Given the description of an element on the screen output the (x, y) to click on. 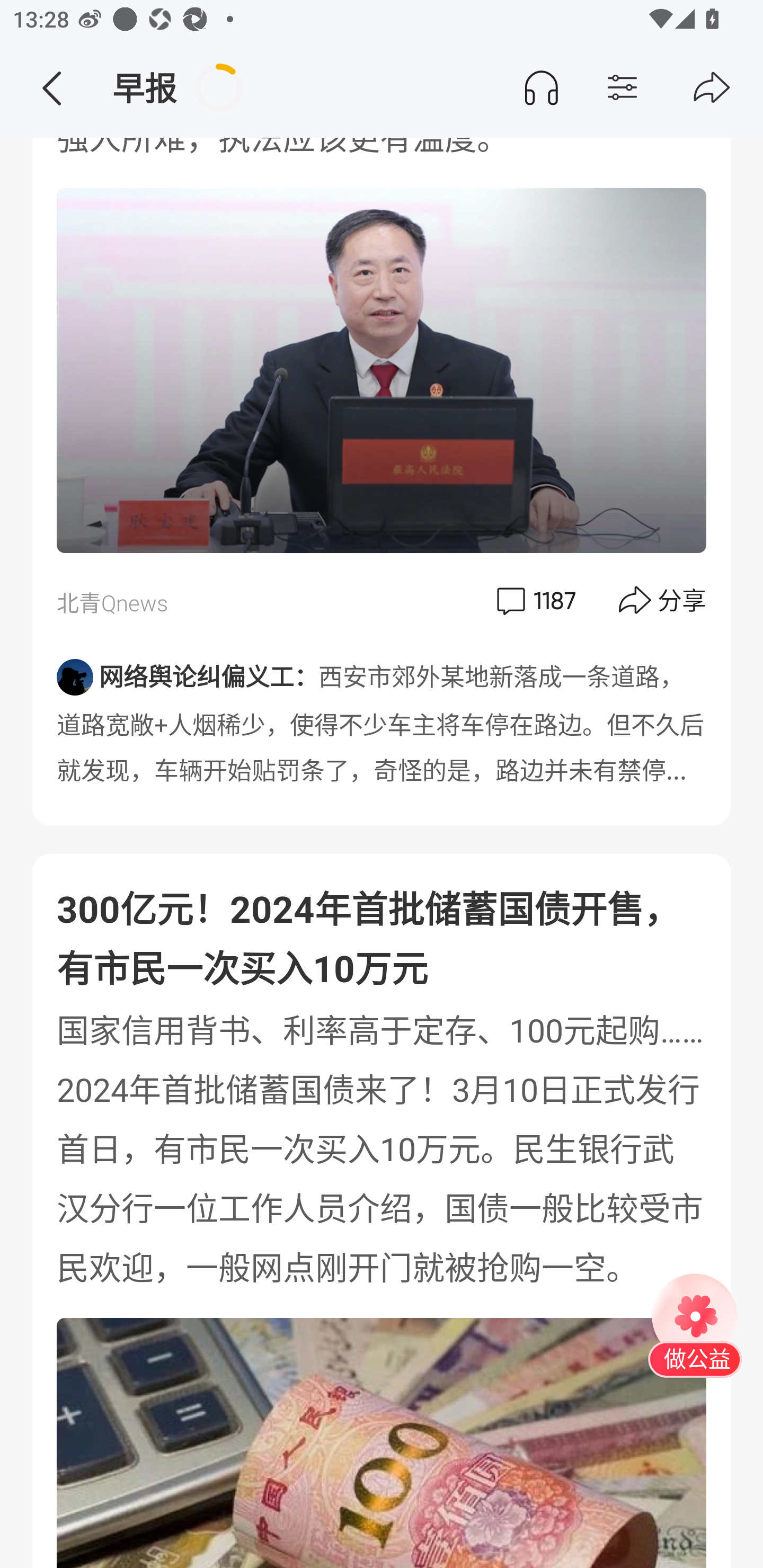
 (50, 87)
 (656, 87)
 (711, 87)
评论  1187 (534, 600)
 分享 (663, 600)
